Given the description of an element on the screen output the (x, y) to click on. 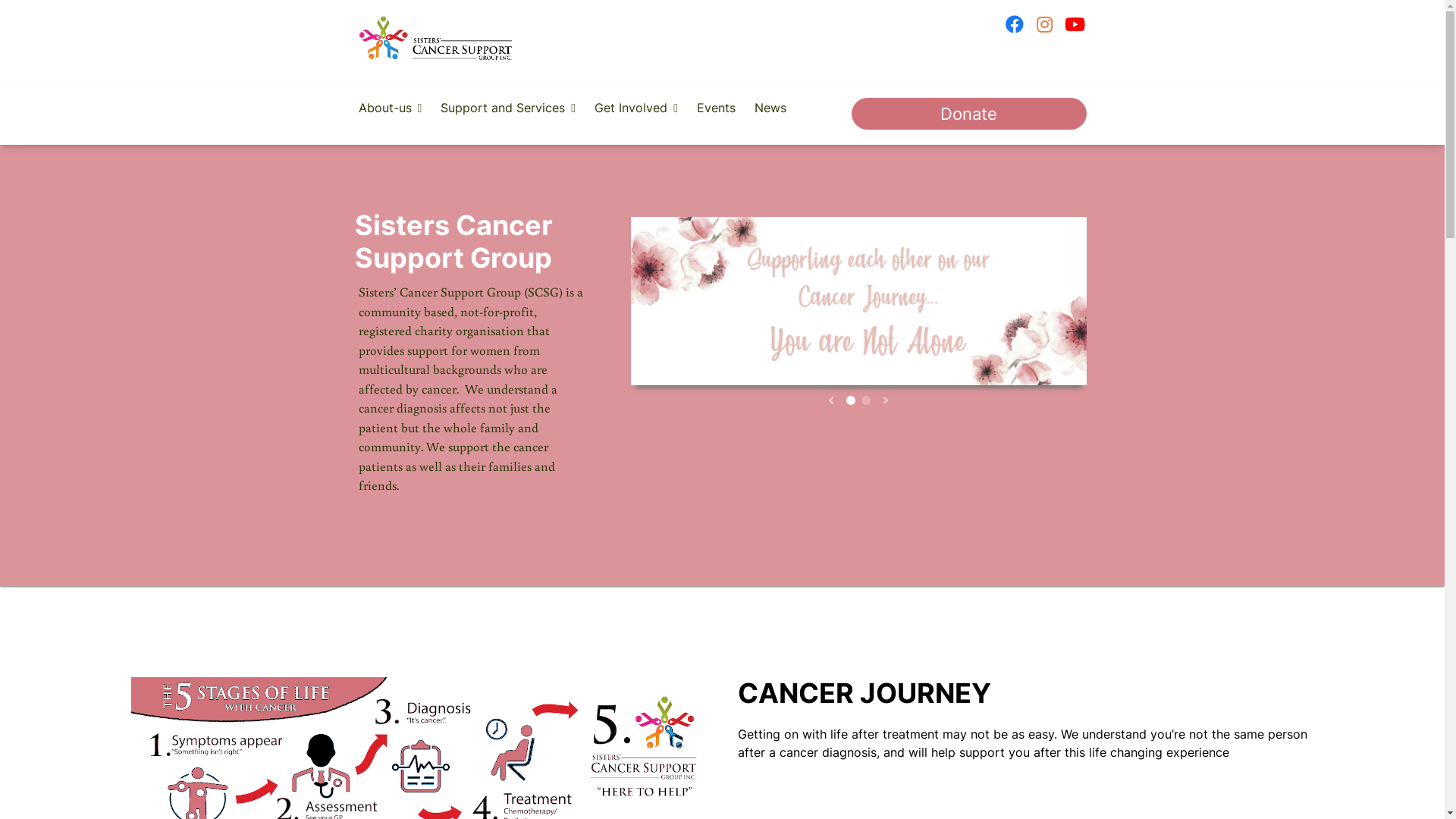
Support and Services Element type: text (507, 107)
Donate Element type: text (967, 113)
Get Involved Element type: text (635, 107)
About-us Element type: text (389, 107)
News Element type: text (770, 107)
Events Element type: text (715, 107)
